Given the description of an element on the screen output the (x, y) to click on. 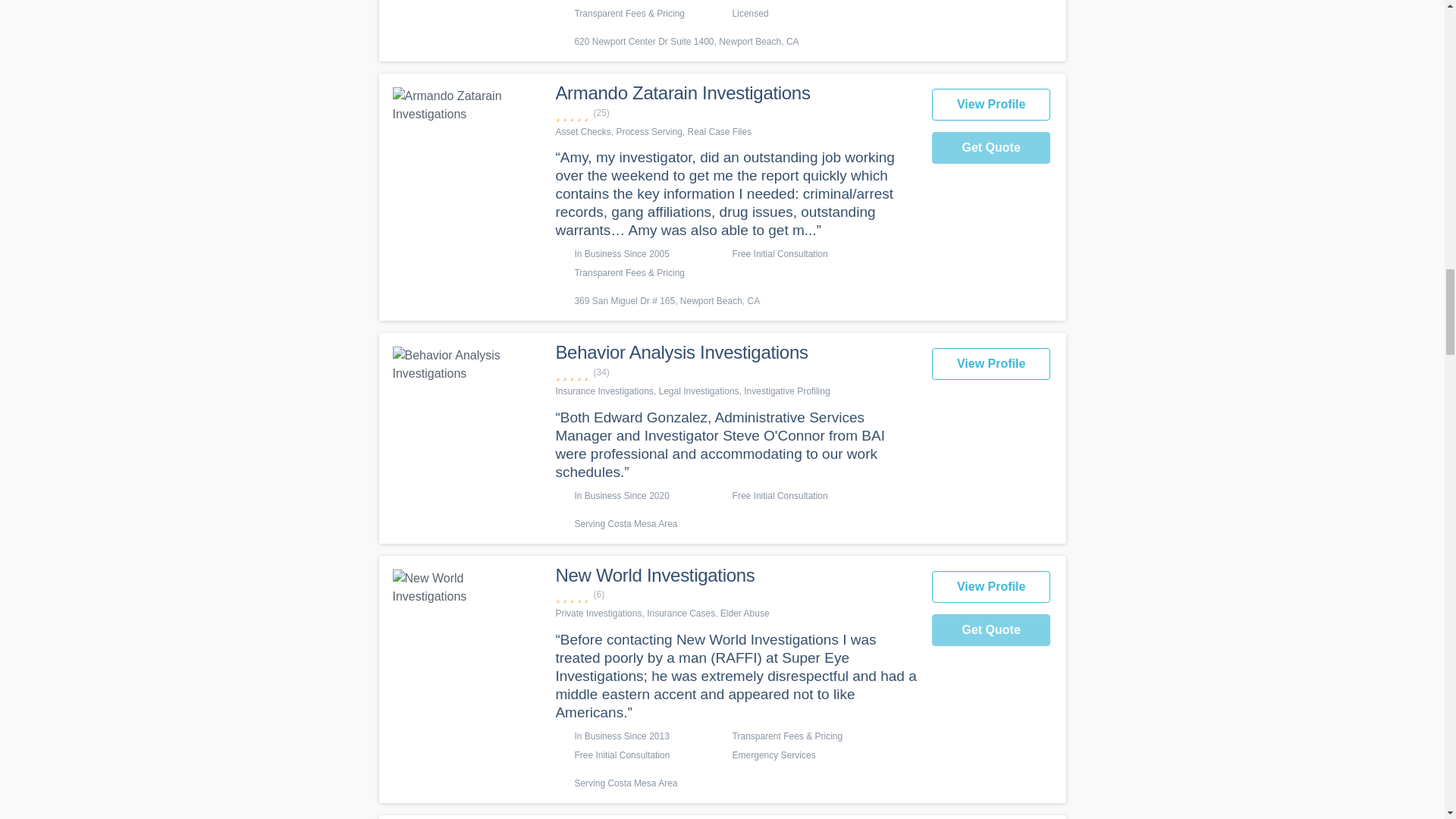
5.0 (734, 372)
5.0 (734, 113)
5.0 (734, 594)
